Given the description of an element on the screen output the (x, y) to click on. 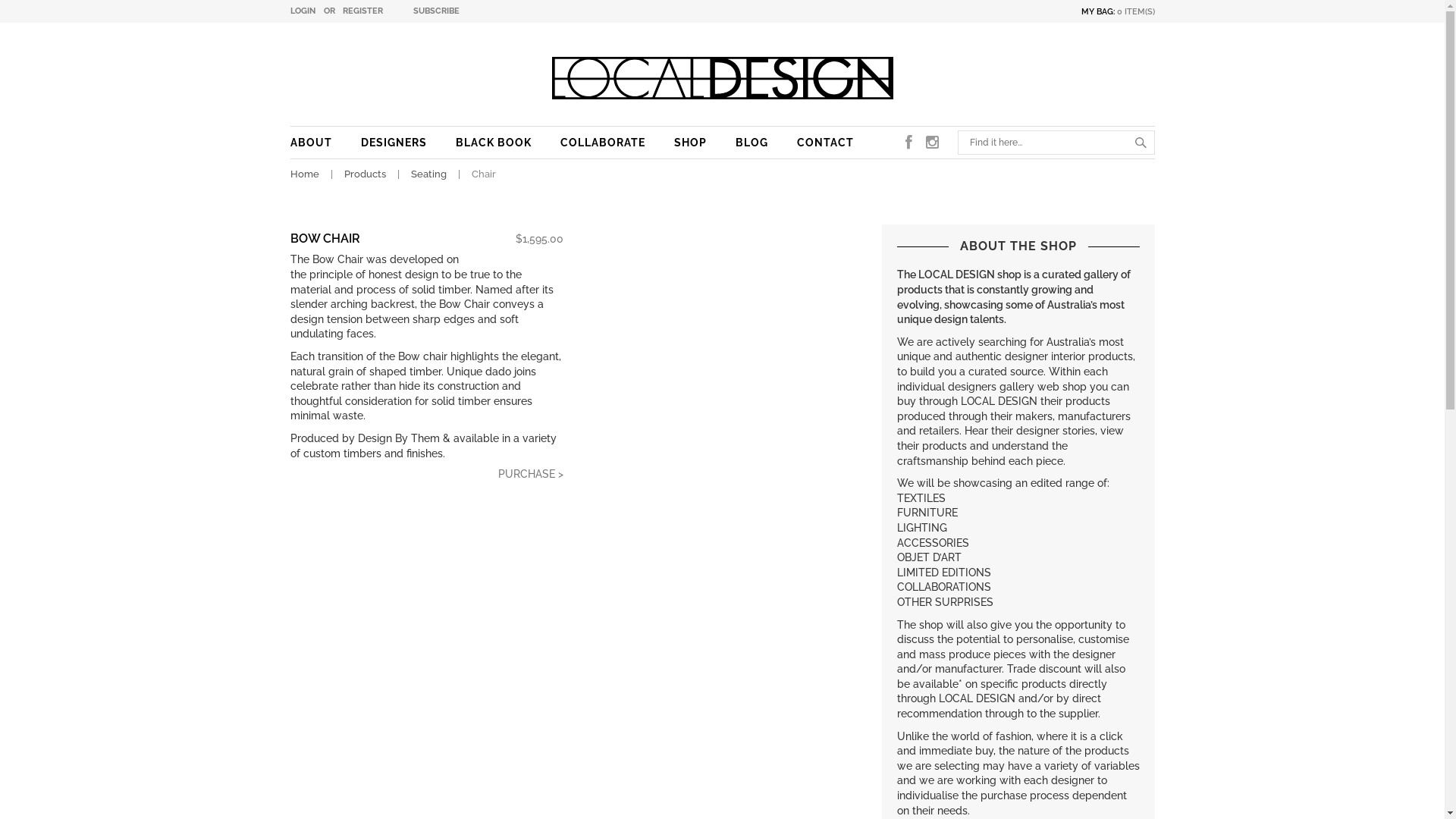
LOGIN Element type: text (301, 10)
SHOP Element type: text (689, 142)
BLOG Element type: text (751, 142)
0 ITEM(S) Element type: text (1135, 11)
PURCHASE > Element type: text (518, 481)
COLLABORATE Element type: text (601, 142)
ABOUT Element type: text (310, 142)
Seating Element type: text (428, 173)
Products Element type: text (364, 173)
SUBSCRIBE Element type: text (435, 10)
CONTACT Element type: text (824, 142)
BLACK BOOK Element type: text (492, 142)
DESIGNERS Element type: text (393, 142)
REGISTER Element type: text (362, 10)
Home Element type: text (303, 173)
